Given the description of an element on the screen output the (x, y) to click on. 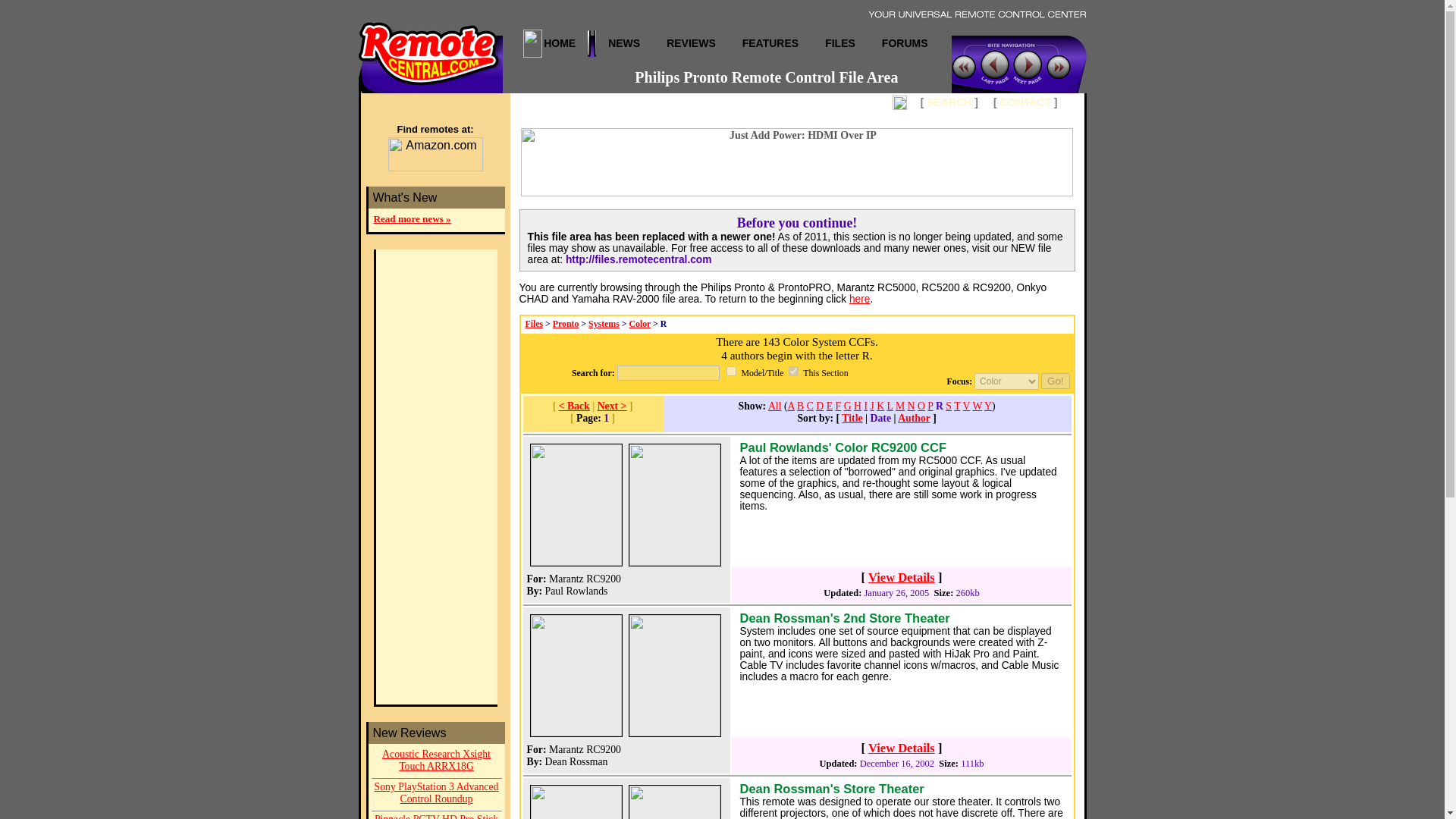
The remote control community (905, 42)
FILES (840, 42)
CONTACT (1025, 102)
SEARCH (948, 102)
Exclusive in-depth reviews (691, 42)
Acoustic Research Xsight Touch ARRX18G (436, 761)
Pronto (566, 323)
on (793, 370)
Find what you need (948, 102)
Get in touch (1025, 102)
